Given the description of an element on the screen output the (x, y) to click on. 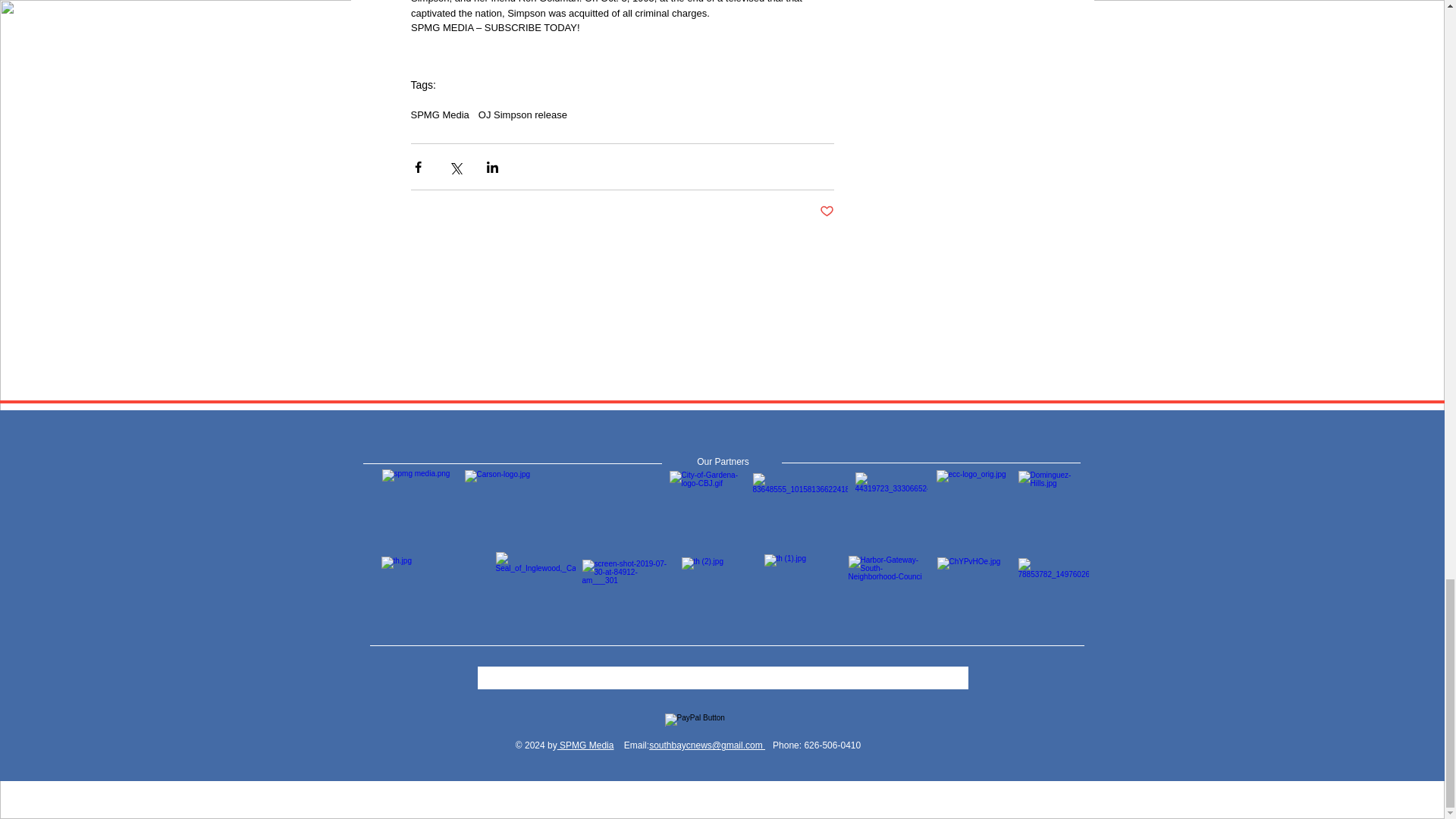
SPMG Media (439, 114)
OJ Simpson release (523, 114)
Post not marked as liked (825, 211)
